Given the description of an element on the screen output the (x, y) to click on. 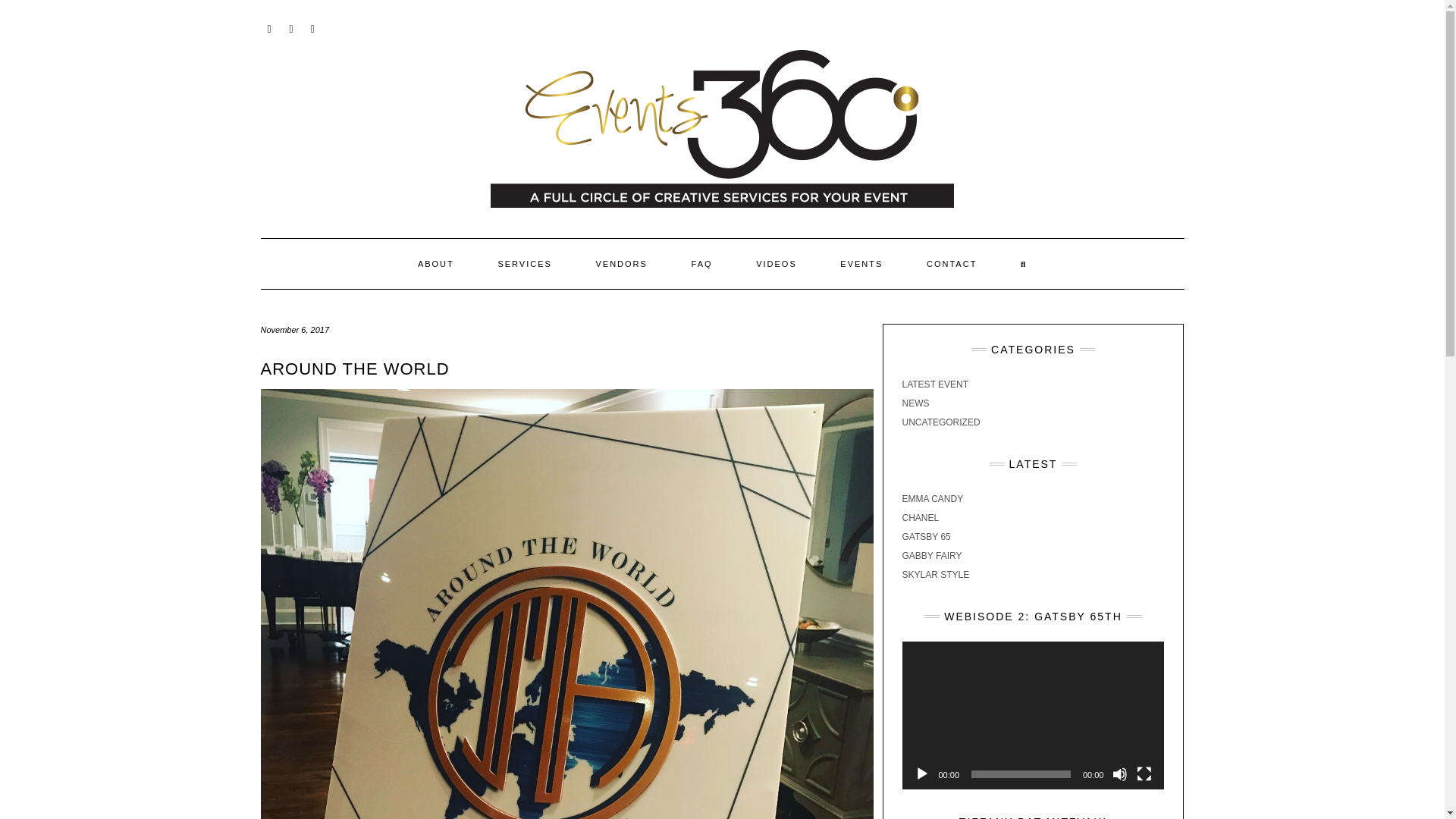
SKYLAR STYLE (935, 574)
VIDEOS (775, 264)
EVENTS (860, 264)
Mute (1119, 774)
Play (922, 774)
GATSBY 65 (926, 536)
FACEBOOK (291, 27)
VENDORS (620, 264)
ABOUT (435, 264)
UNCATEGORIZED (940, 421)
YOUTUBE (313, 27)
INSTAGRAM (269, 27)
CHANEL (920, 517)
SERVICES (524, 264)
NEWS (916, 403)
